Given the description of an element on the screen output the (x, y) to click on. 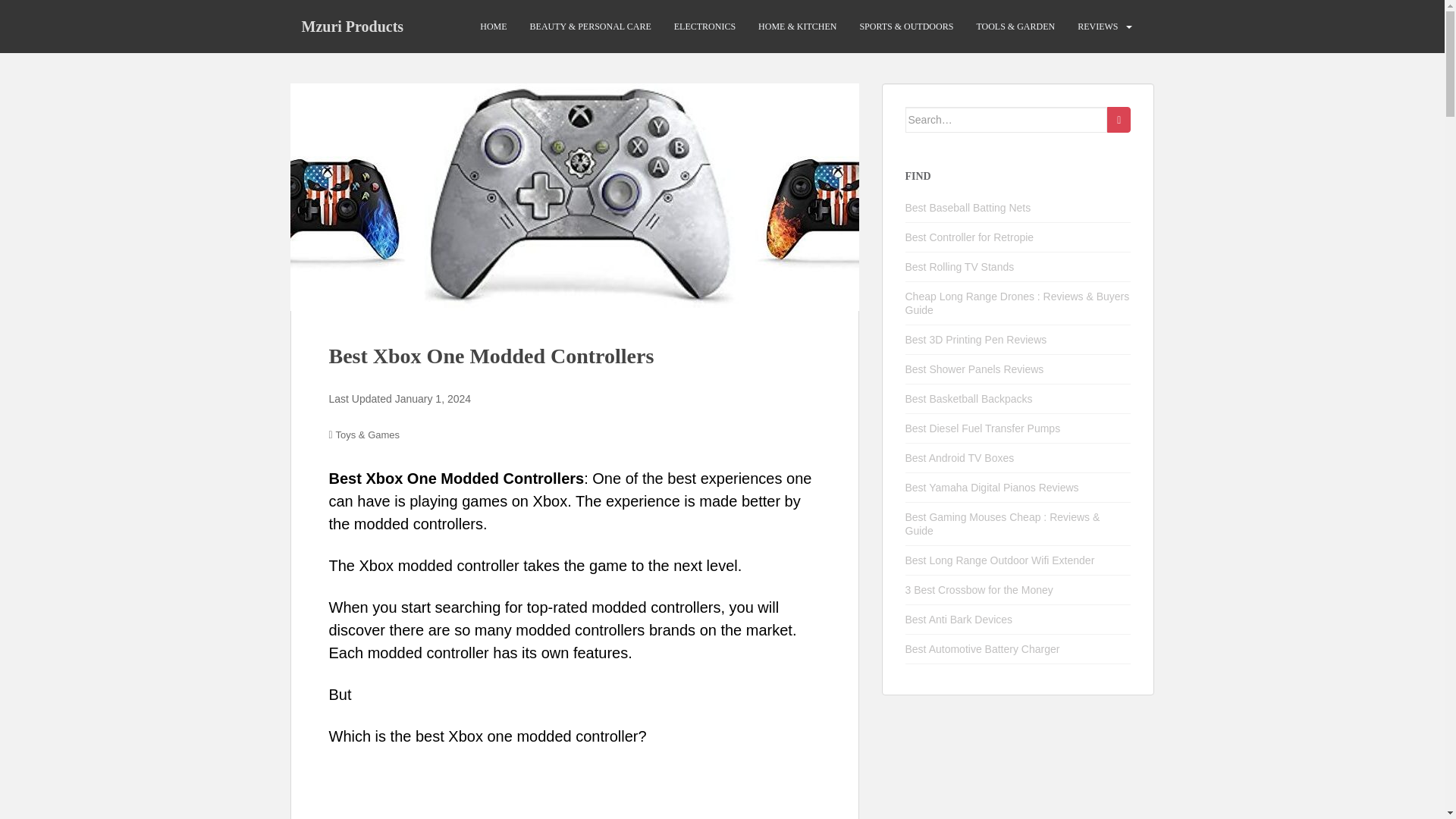
REVIEWS (1097, 26)
Mzuri Products (351, 26)
Mzuri Products (351, 26)
ELECTRONICS (704, 26)
Search for: (1006, 119)
